Given the description of an element on the screen output the (x, y) to click on. 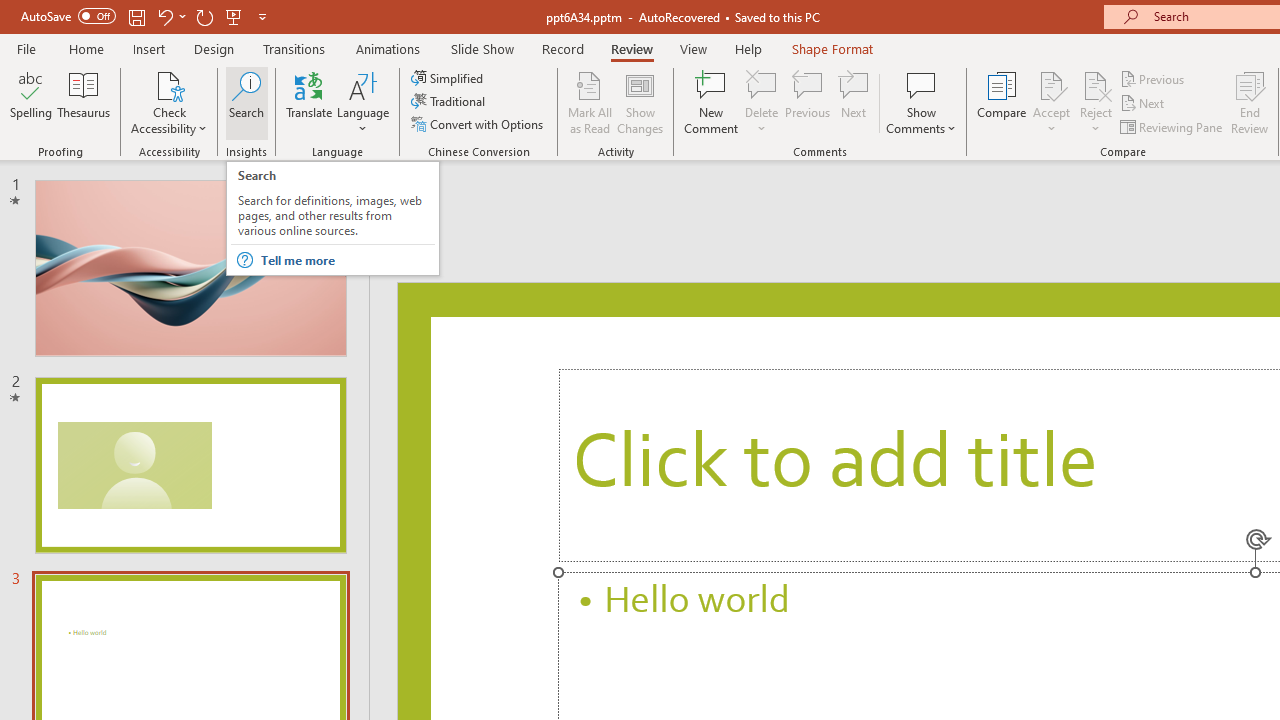
Traditional (449, 101)
Show Comments (921, 102)
Simplified (449, 78)
Reject (1096, 102)
Tell me more (346, 260)
Delete (762, 84)
Reject Change (1096, 84)
